Given the description of an element on the screen output the (x, y) to click on. 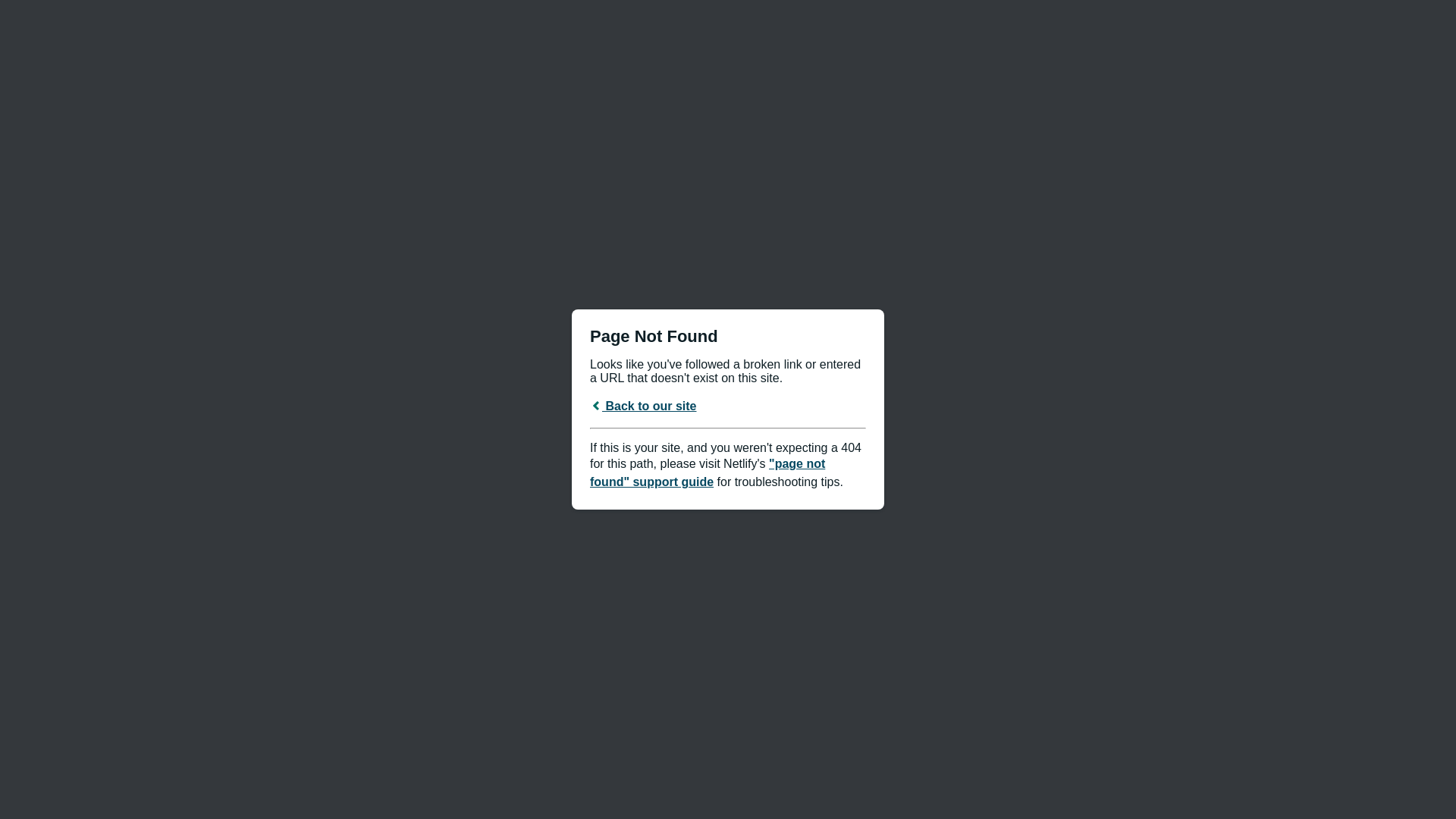
Back to our site Element type: text (642, 405)
"page not found" support guide Element type: text (707, 472)
